Given the description of an element on the screen output the (x, y) to click on. 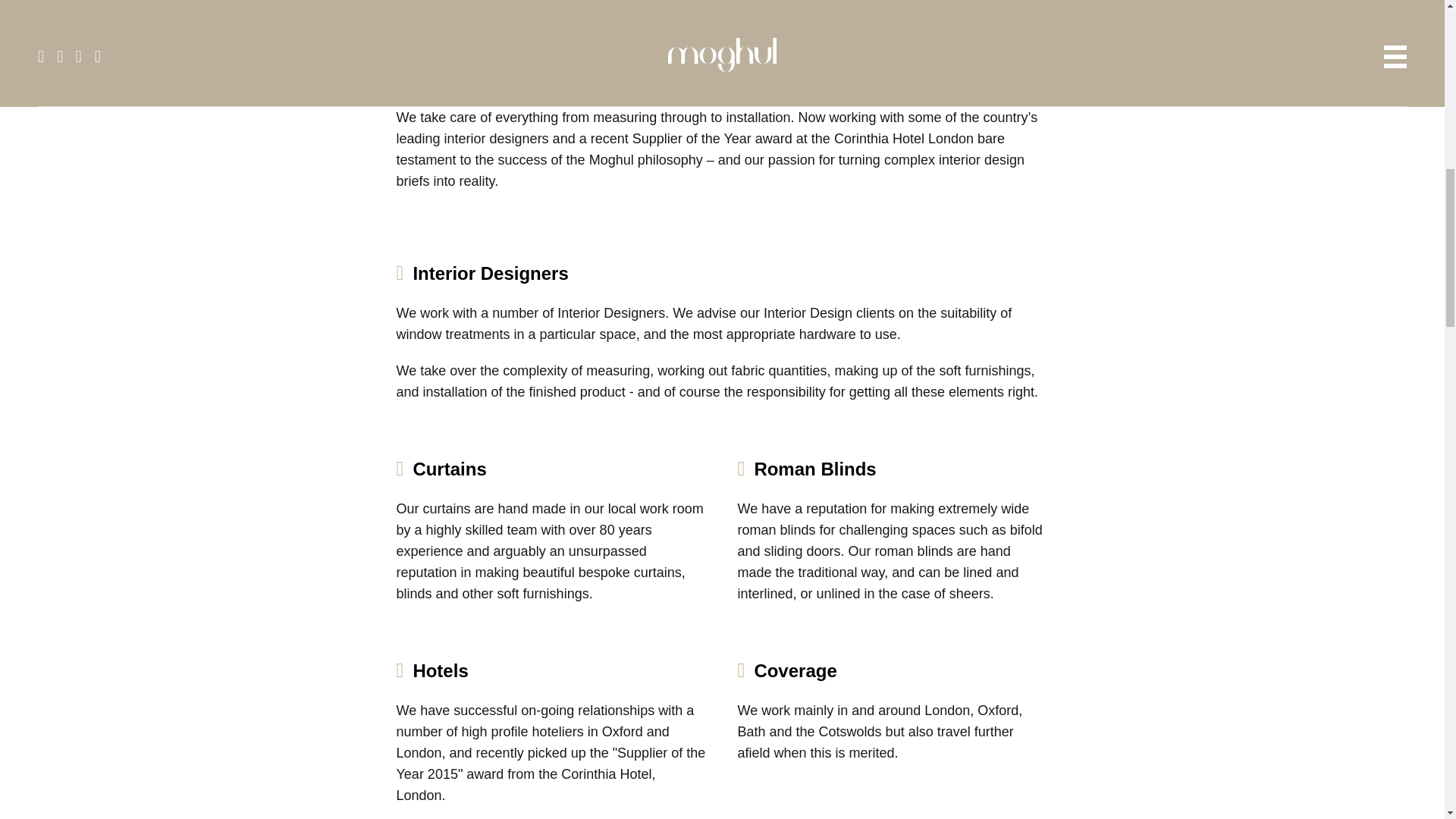
Hotels (439, 670)
Coverage (794, 670)
Curtains (449, 468)
Interior Designers (489, 272)
Roman Blinds (815, 468)
